Given the description of an element on the screen output the (x, y) to click on. 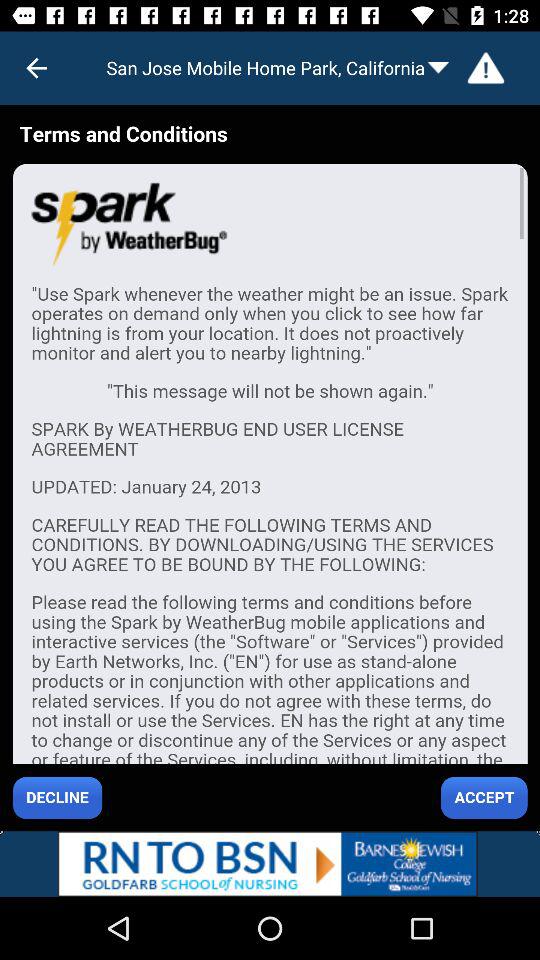
view the terms and conditions page (270, 468)
